Given the description of an element on the screen output the (x, y) to click on. 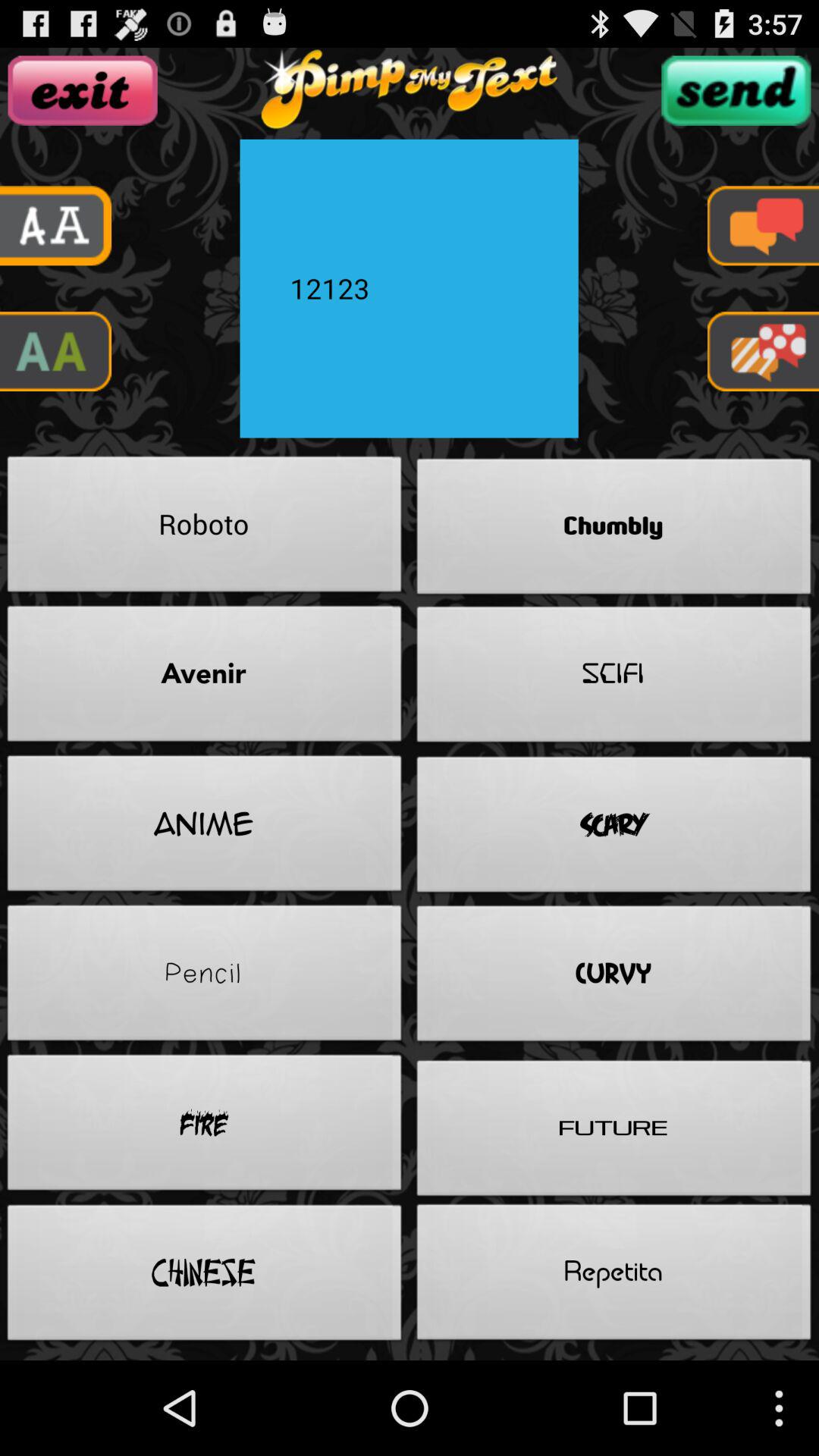
game app option (763, 351)
